Given the description of an element on the screen output the (x, y) to click on. 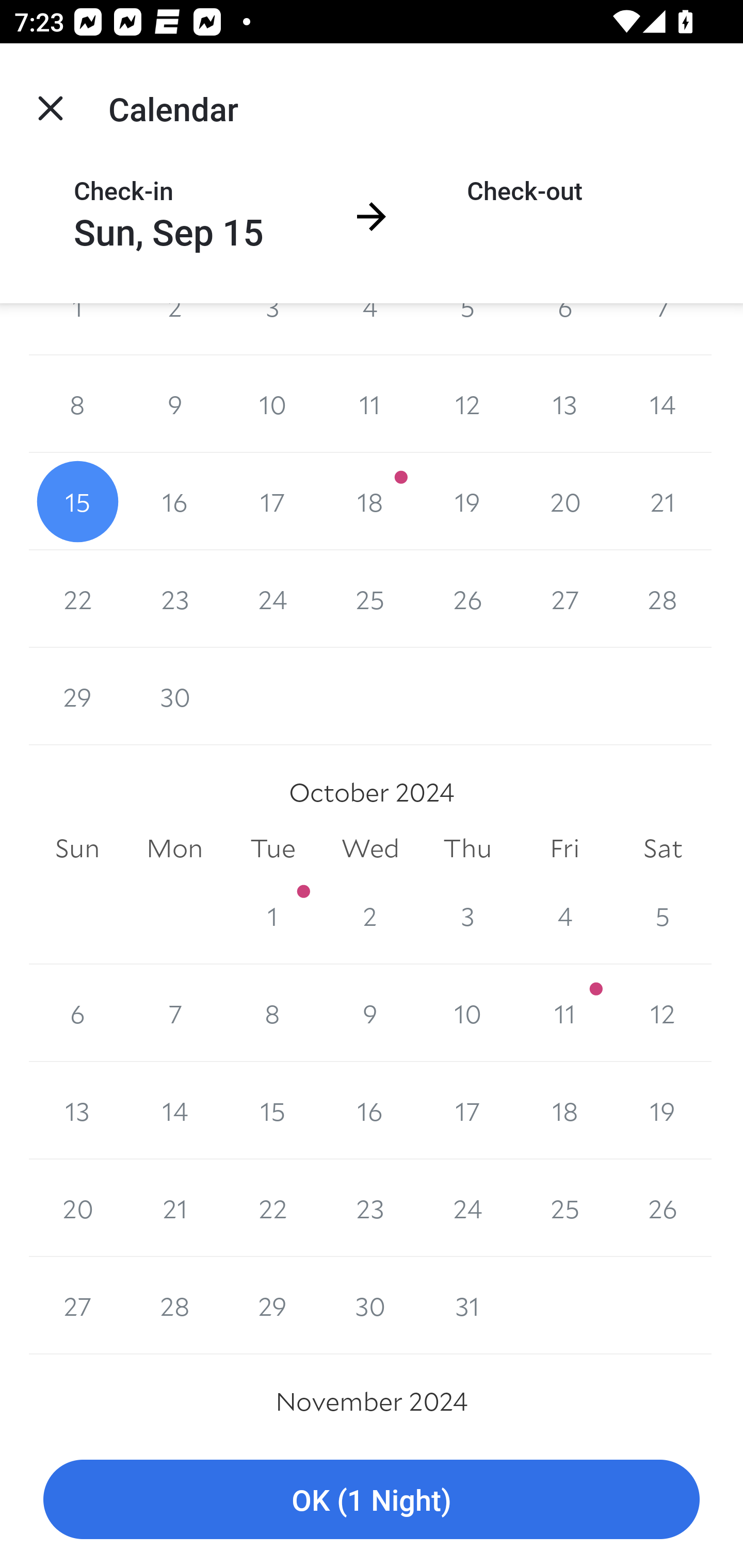
8 8 September 2024 (77, 404)
9 9 September 2024 (174, 404)
10 10 September 2024 (272, 404)
11 11 September 2024 (370, 404)
12 12 September 2024 (467, 404)
13 13 September 2024 (564, 404)
14 14 September 2024 (662, 404)
15 15 September 2024 (77, 501)
16 16 September 2024 (174, 501)
17 17 September 2024 (272, 501)
18 18 September 2024 (370, 501)
19 19 September 2024 (467, 501)
20 20 September 2024 (564, 501)
21 21 September 2024 (662, 501)
22 22 September 2024 (77, 598)
23 23 September 2024 (174, 598)
24 24 September 2024 (272, 598)
25 25 September 2024 (370, 598)
26 26 September 2024 (467, 598)
27 27 September 2024 (564, 598)
28 28 September 2024 (662, 598)
29 29 September 2024 (77, 695)
30 30 September 2024 (174, 695)
Sun (77, 848)
Mon (174, 848)
Tue (272, 848)
Wed (370, 848)
Thu (467, 848)
Fri (564, 848)
Sat (662, 848)
1 1 October 2024 (272, 915)
2 2 October 2024 (370, 915)
3 3 October 2024 (467, 915)
4 4 October 2024 (564, 915)
5 5 October 2024 (662, 915)
6 6 October 2024 (77, 1012)
7 7 October 2024 (174, 1012)
8 8 October 2024 (272, 1012)
9 9 October 2024 (370, 1012)
10 10 October 2024 (467, 1012)
11 11 October 2024 (564, 1012)
12 12 October 2024 (662, 1012)
13 13 October 2024 (77, 1109)
14 14 October 2024 (174, 1109)
15 15 October 2024 (272, 1109)
16 16 October 2024 (370, 1109)
17 17 October 2024 (467, 1109)
18 18 October 2024 (564, 1109)
19 19 October 2024 (662, 1109)
